Given the description of an element on the screen output the (x, y) to click on. 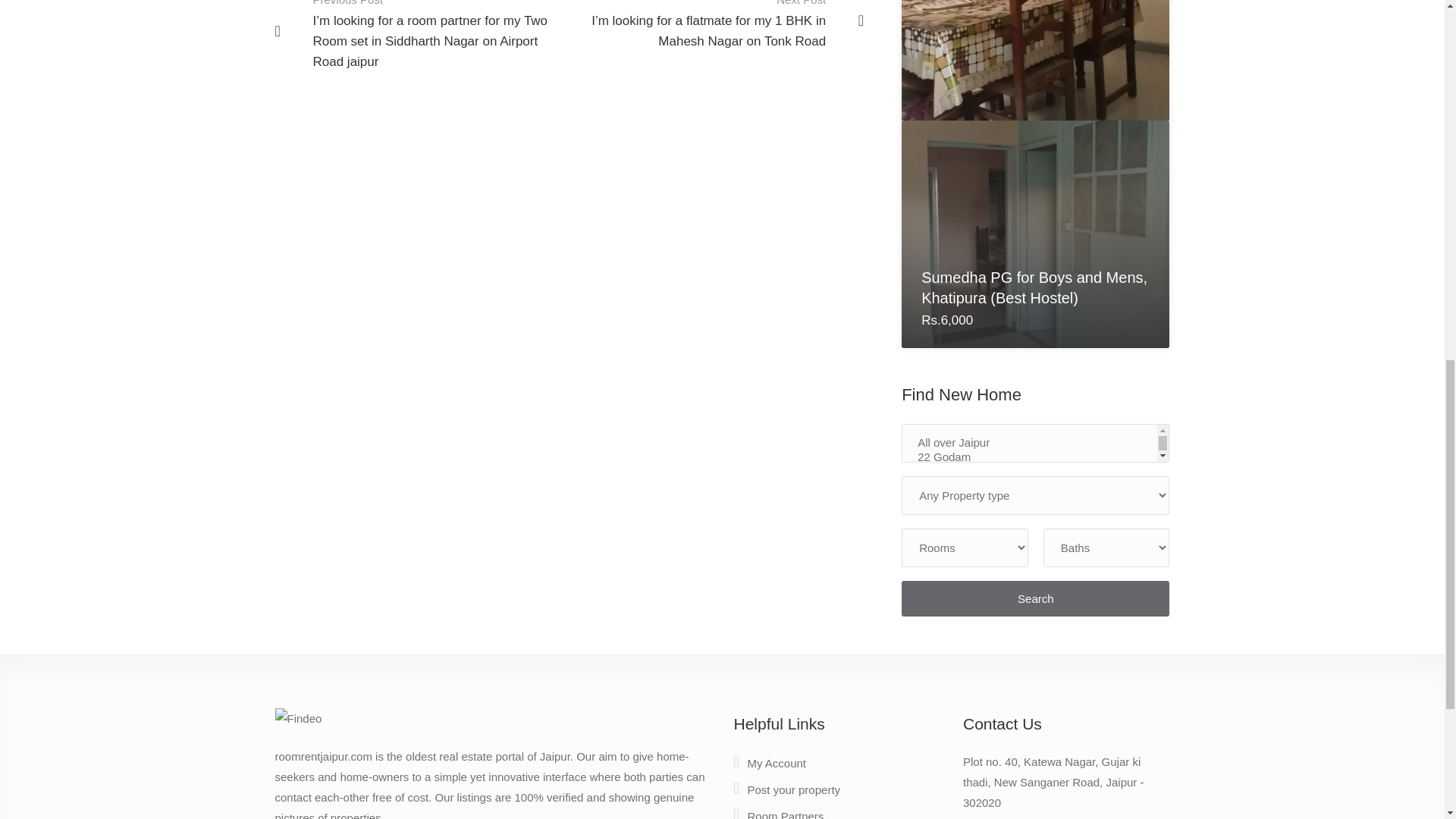
Search (1035, 598)
